Given the description of an element on the screen output the (x, y) to click on. 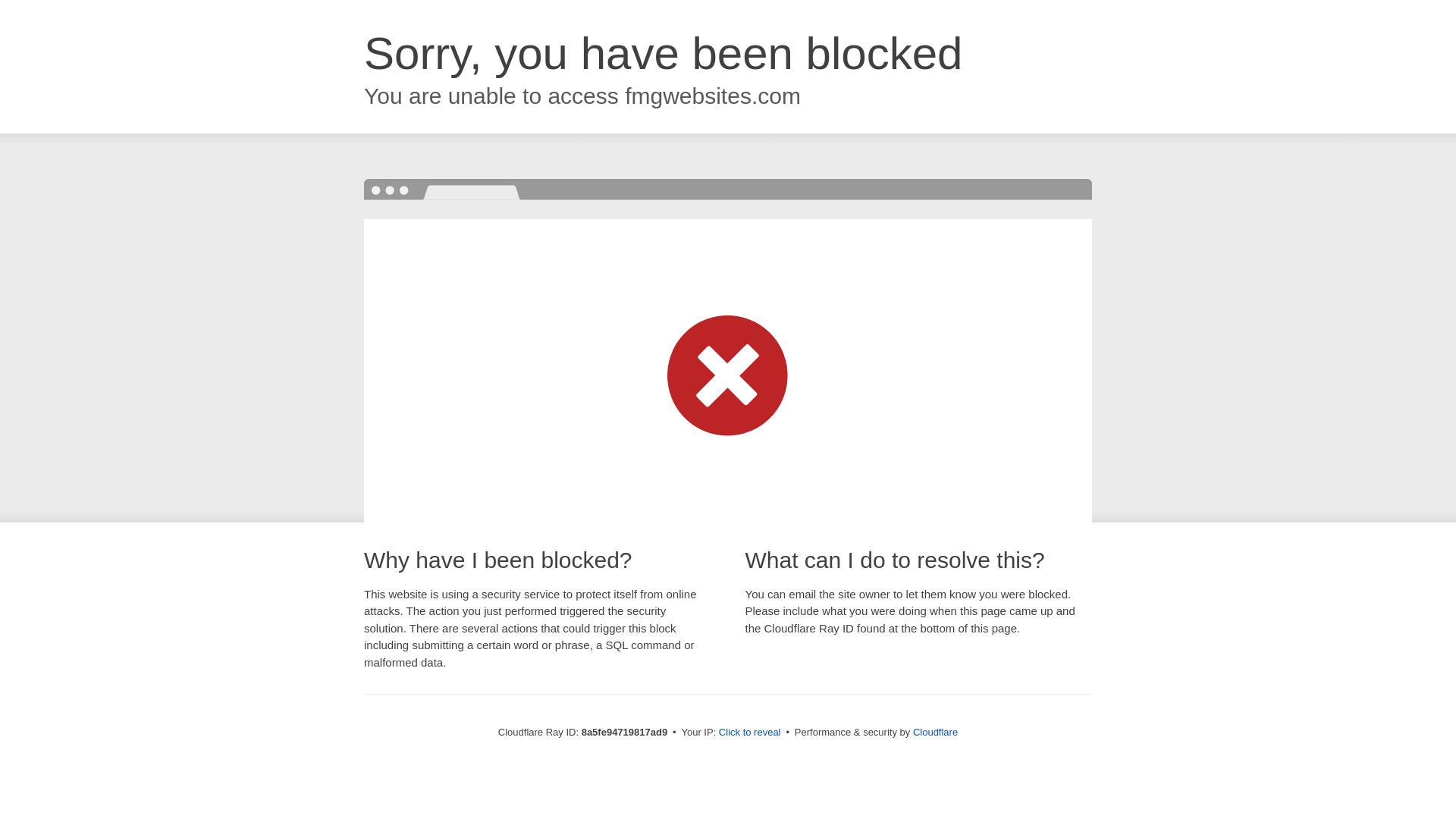
Cloudflare (935, 731)
Click to reveal (749, 732)
